Given the description of an element on the screen output the (x, y) to click on. 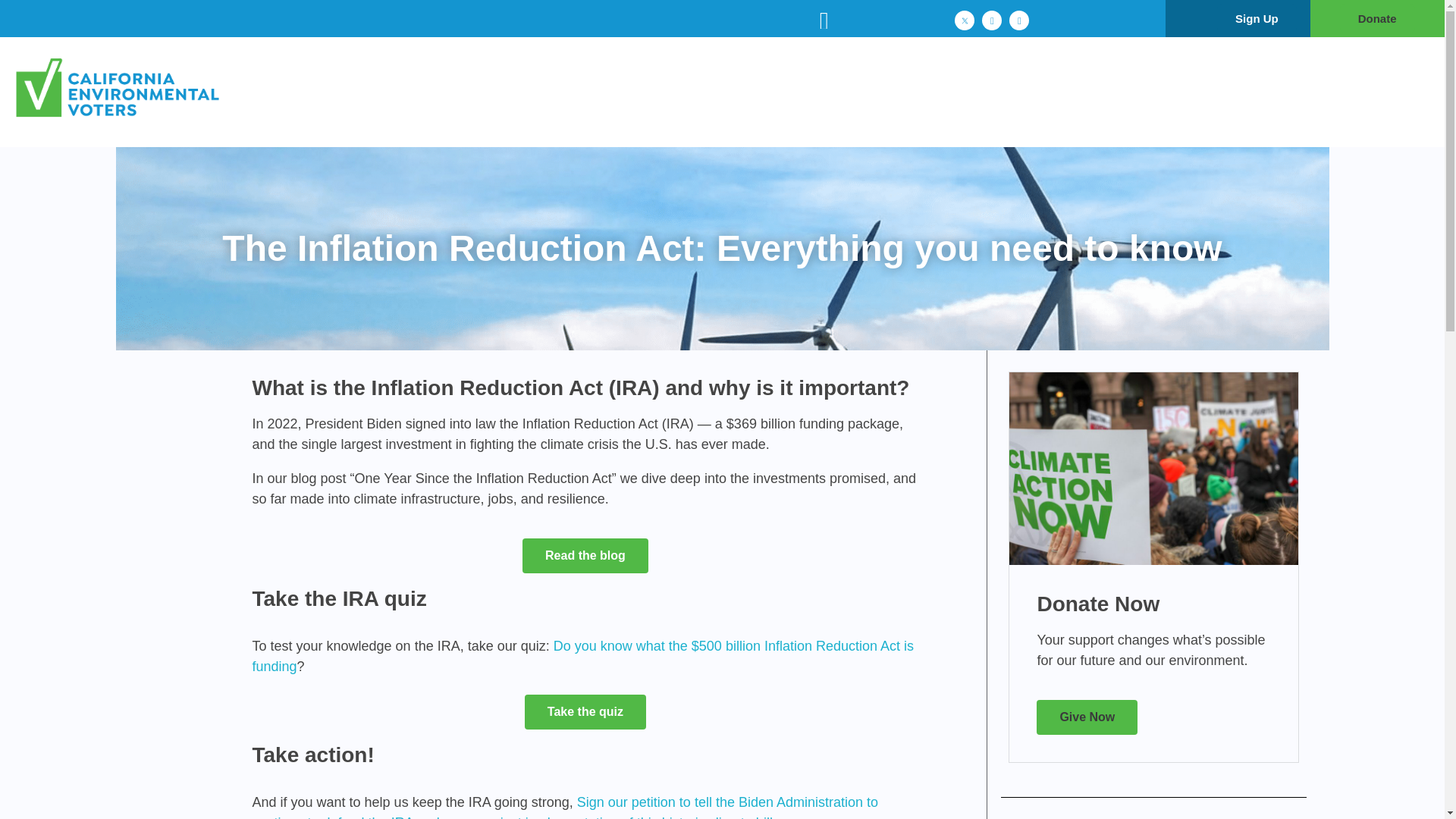
California Environmental Voters (168, 136)
Sign Up (1257, 18)
Donate (1377, 18)
California Environmental Voters (144, 88)
California Environmental Voters (168, 136)
